Given the description of an element on the screen output the (x, y) to click on. 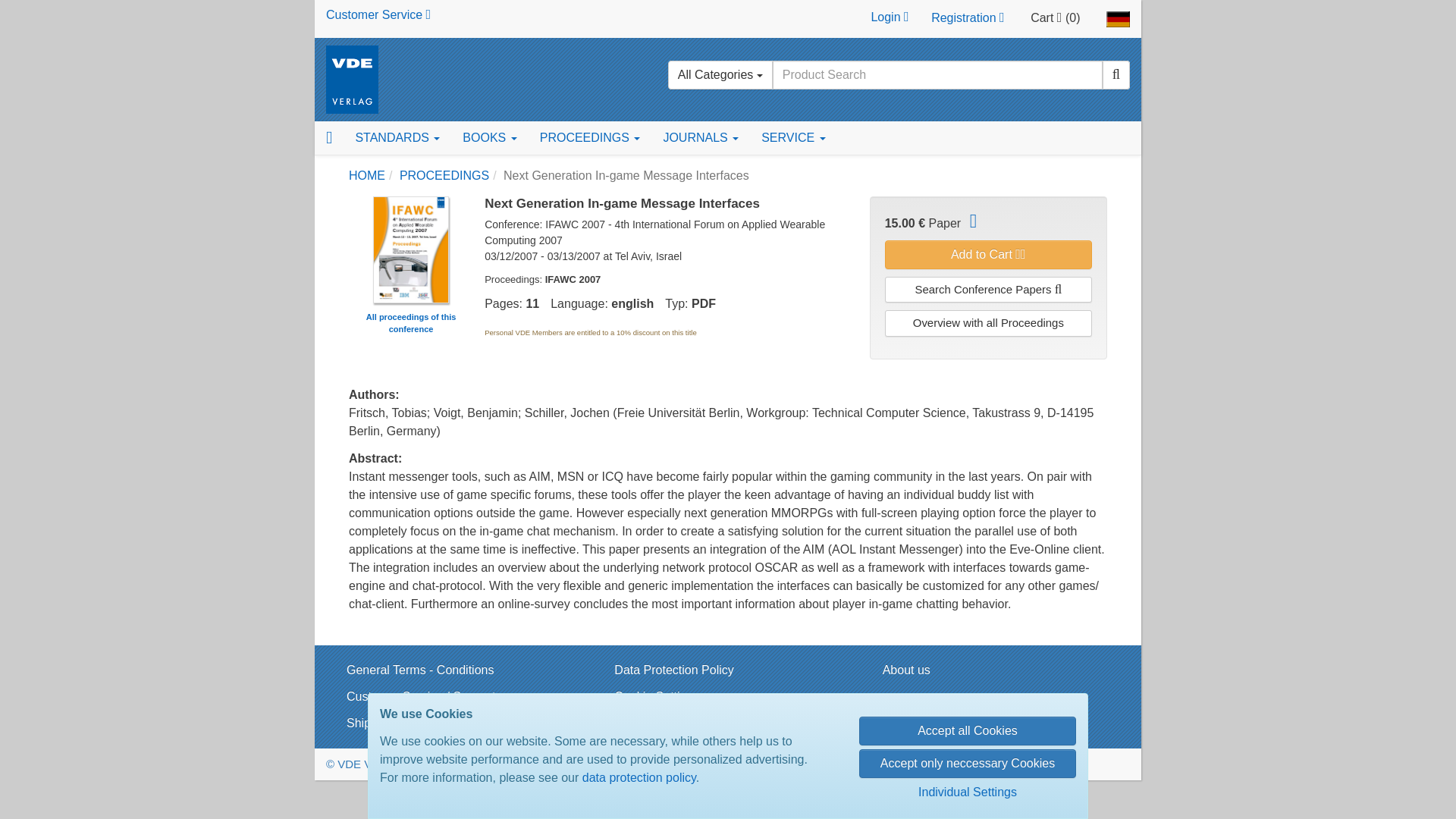
PROCEEDINGS (590, 137)
Login (889, 18)
SERVICE (792, 137)
Registration (967, 17)
JOURNALS (699, 137)
STANDARDS (397, 137)
All Categories (720, 74)
Customer Service (378, 14)
BOOKS (489, 137)
